Given the description of an element on the screen output the (x, y) to click on. 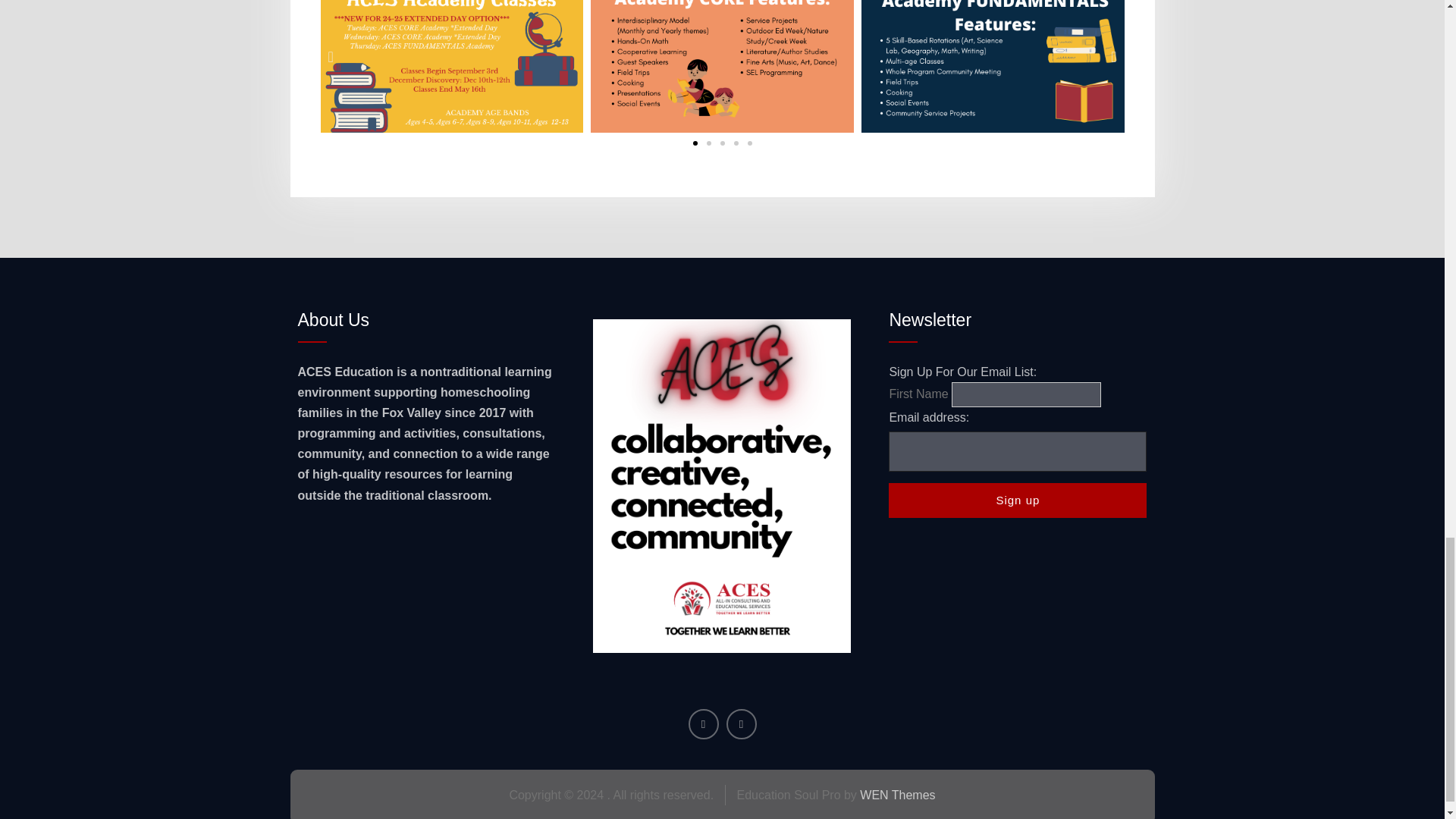
Sign up (1017, 500)
